Given the description of an element on the screen output the (x, y) to click on. 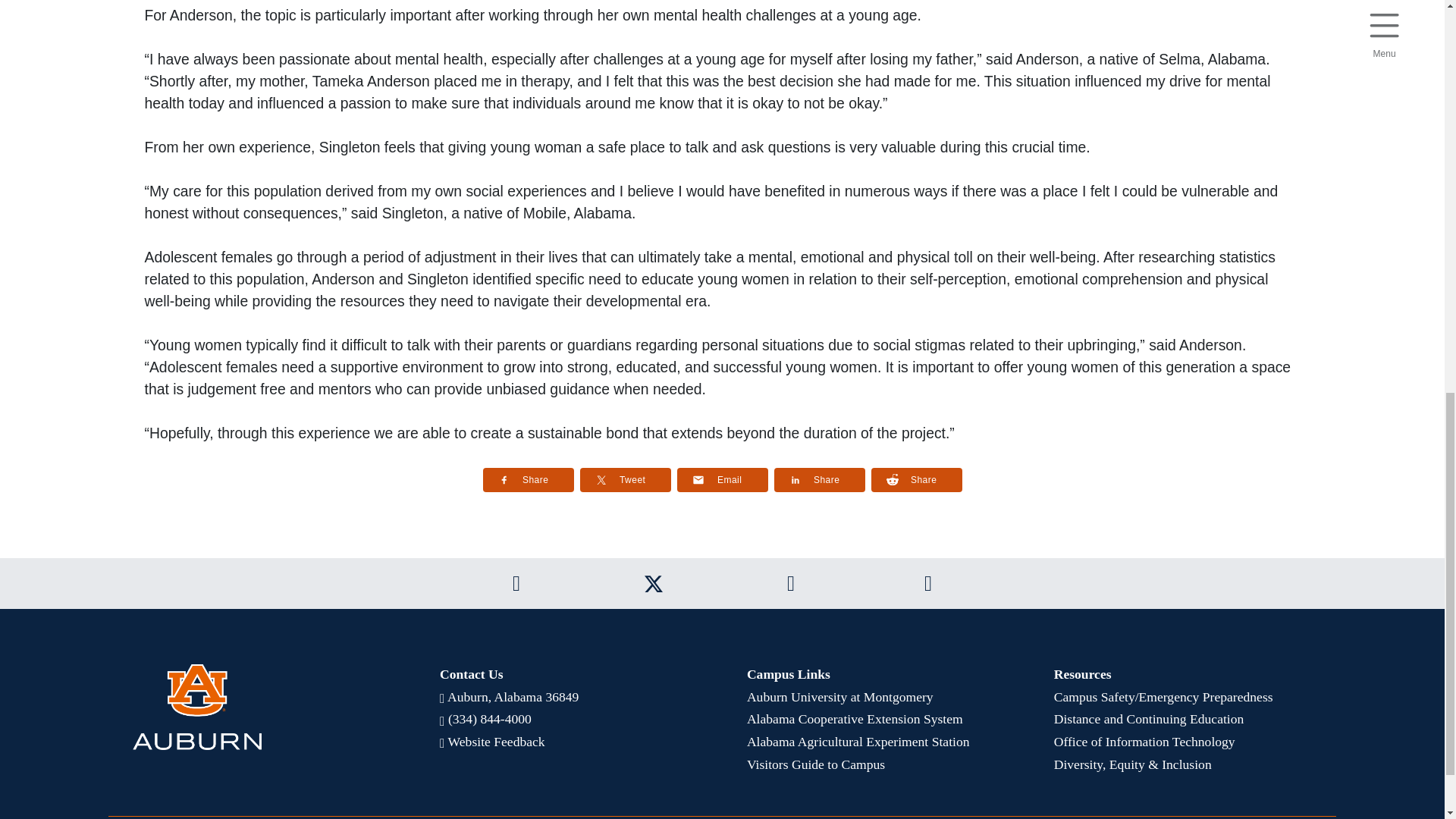
link to university homepage (261, 707)
